Given the description of an element on the screen output the (x, y) to click on. 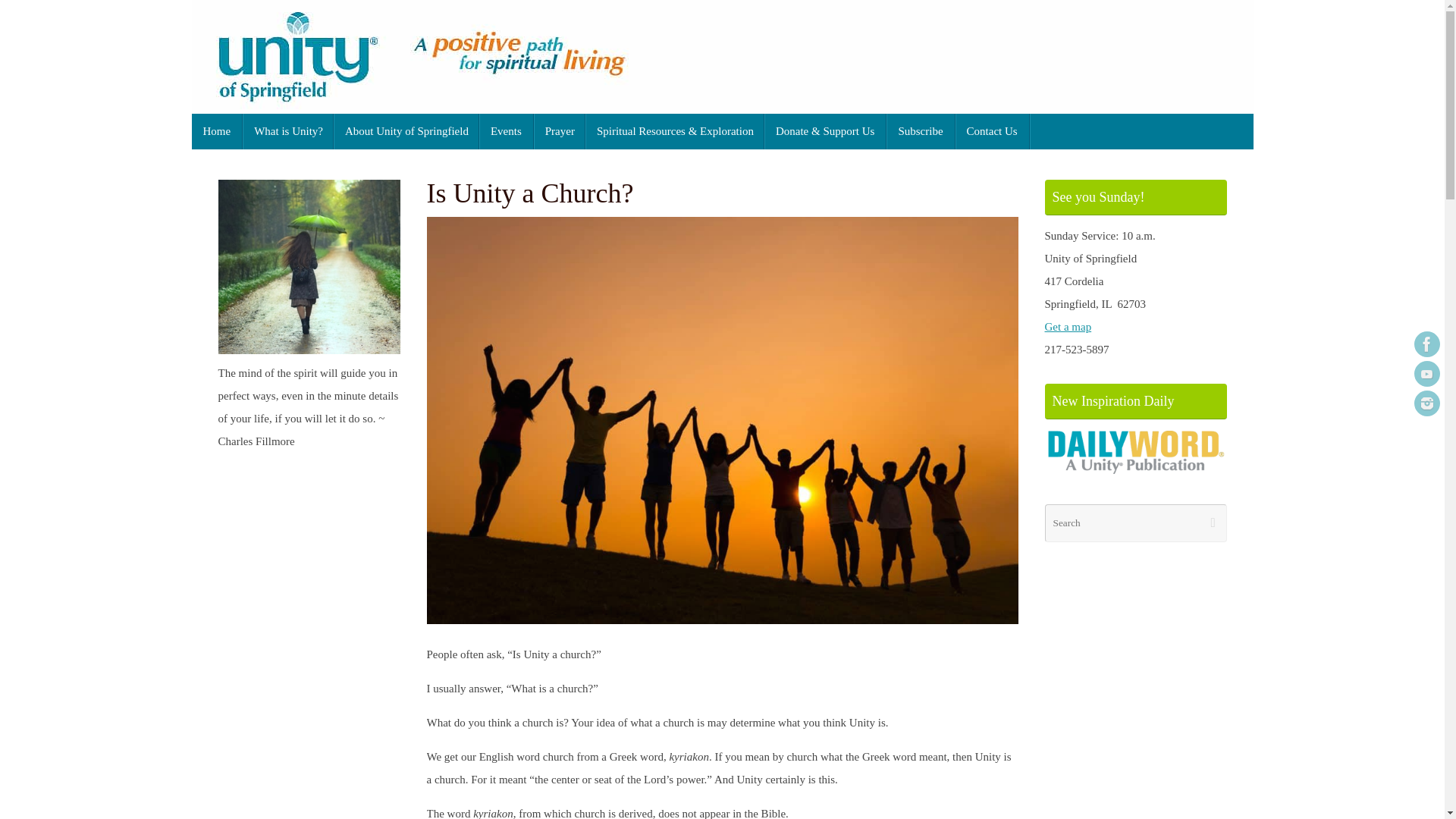
YouTube (1426, 373)
Unity of Springfield Illinois (721, 56)
What is Unity? (288, 131)
Events (506, 131)
Home (216, 131)
Contact Us (992, 131)
Prayer (559, 131)
Instagram (1426, 403)
Google map (1068, 326)
About Unity of Springfield (406, 131)
Get a map (1068, 326)
Subscribe (920, 131)
Facebook (1426, 344)
